Given the description of an element on the screen output the (x, y) to click on. 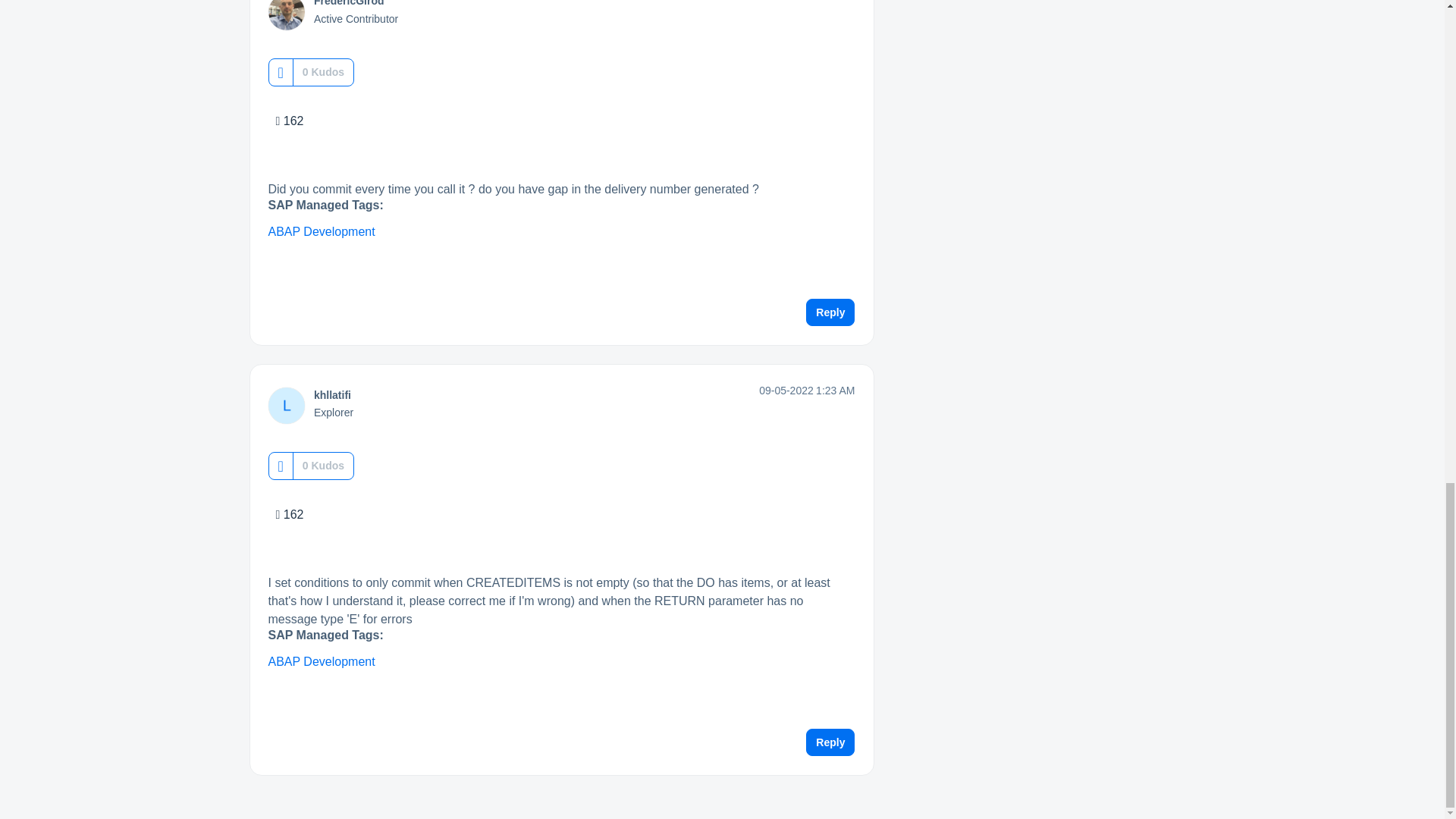
FredericGirod (349, 3)
Options (850, 5)
